Given the description of an element on the screen output the (x, y) to click on. 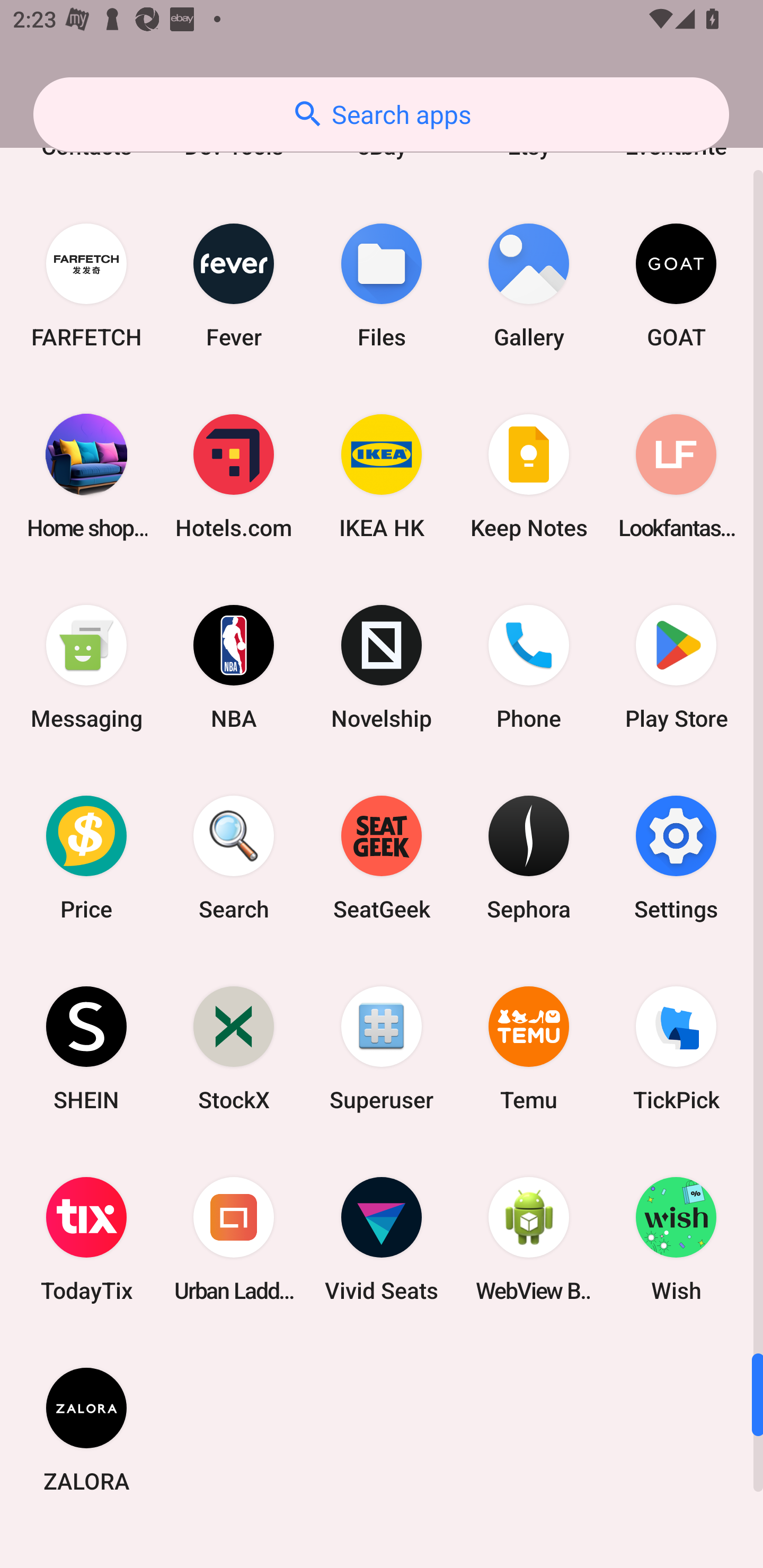
  Search apps (381, 114)
FARFETCH (86, 285)
Fever (233, 285)
Files (381, 285)
Gallery (528, 285)
GOAT (676, 285)
Home shopping (86, 476)
Hotels.com (233, 476)
IKEA HK (381, 476)
Keep Notes (528, 476)
Lookfantastic (676, 476)
Messaging (86, 667)
NBA (233, 667)
Novelship (381, 667)
Phone (528, 667)
Play Store (676, 667)
Price (86, 857)
Search (233, 857)
SeatGeek (381, 857)
Sephora (528, 857)
Settings (676, 857)
SHEIN (86, 1048)
StockX (233, 1048)
Superuser (381, 1048)
Temu (528, 1048)
TickPick (676, 1048)
TodayTix (86, 1238)
Urban Ladder (233, 1238)
Vivid Seats (381, 1238)
WebView Browser Tester (528, 1238)
Wish (676, 1238)
ZALORA (86, 1429)
